Given the description of an element on the screen output the (x, y) to click on. 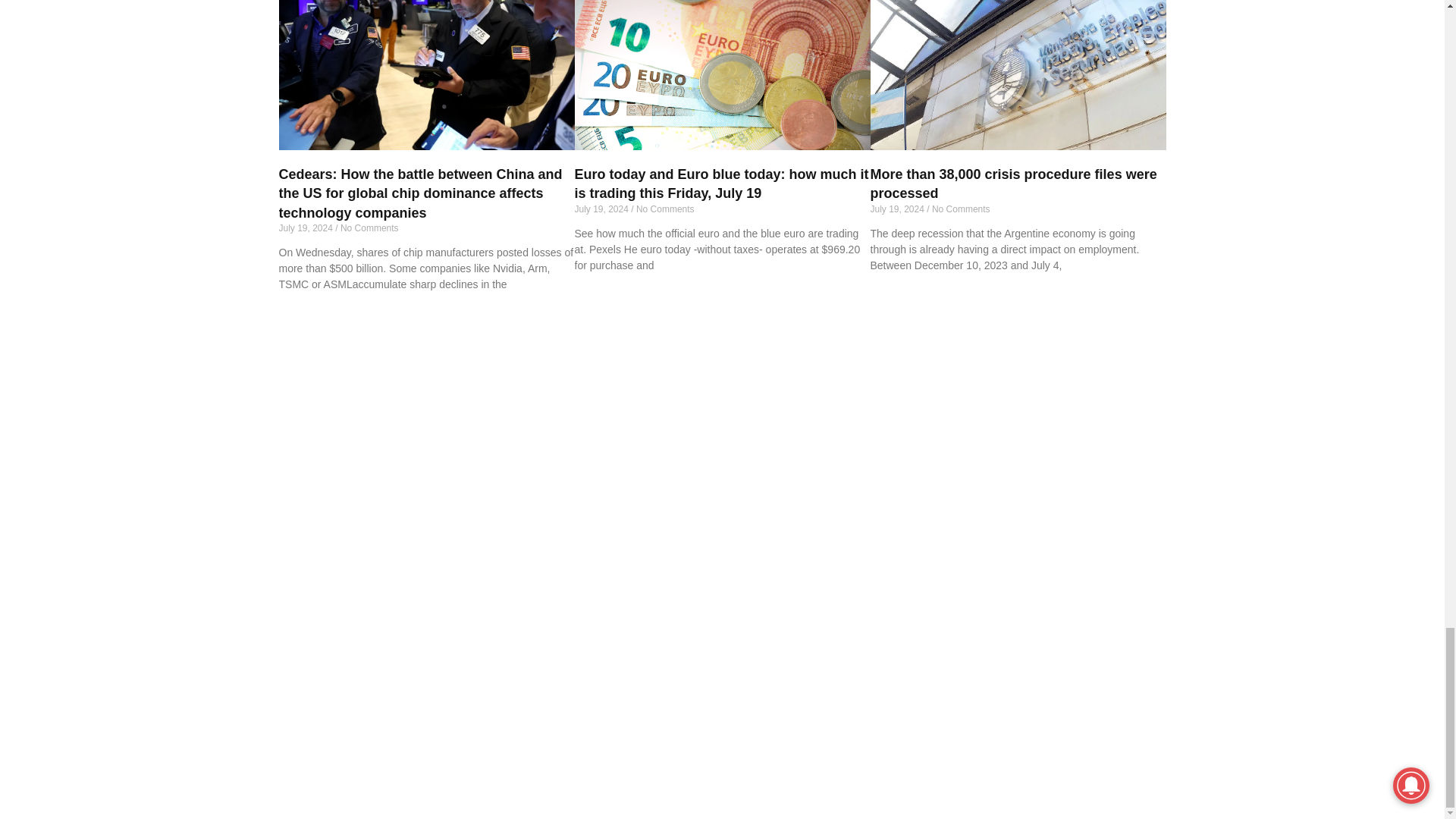
More than 38,000 crisis procedure files were processed (1015, 74)
